Given the description of an element on the screen output the (x, y) to click on. 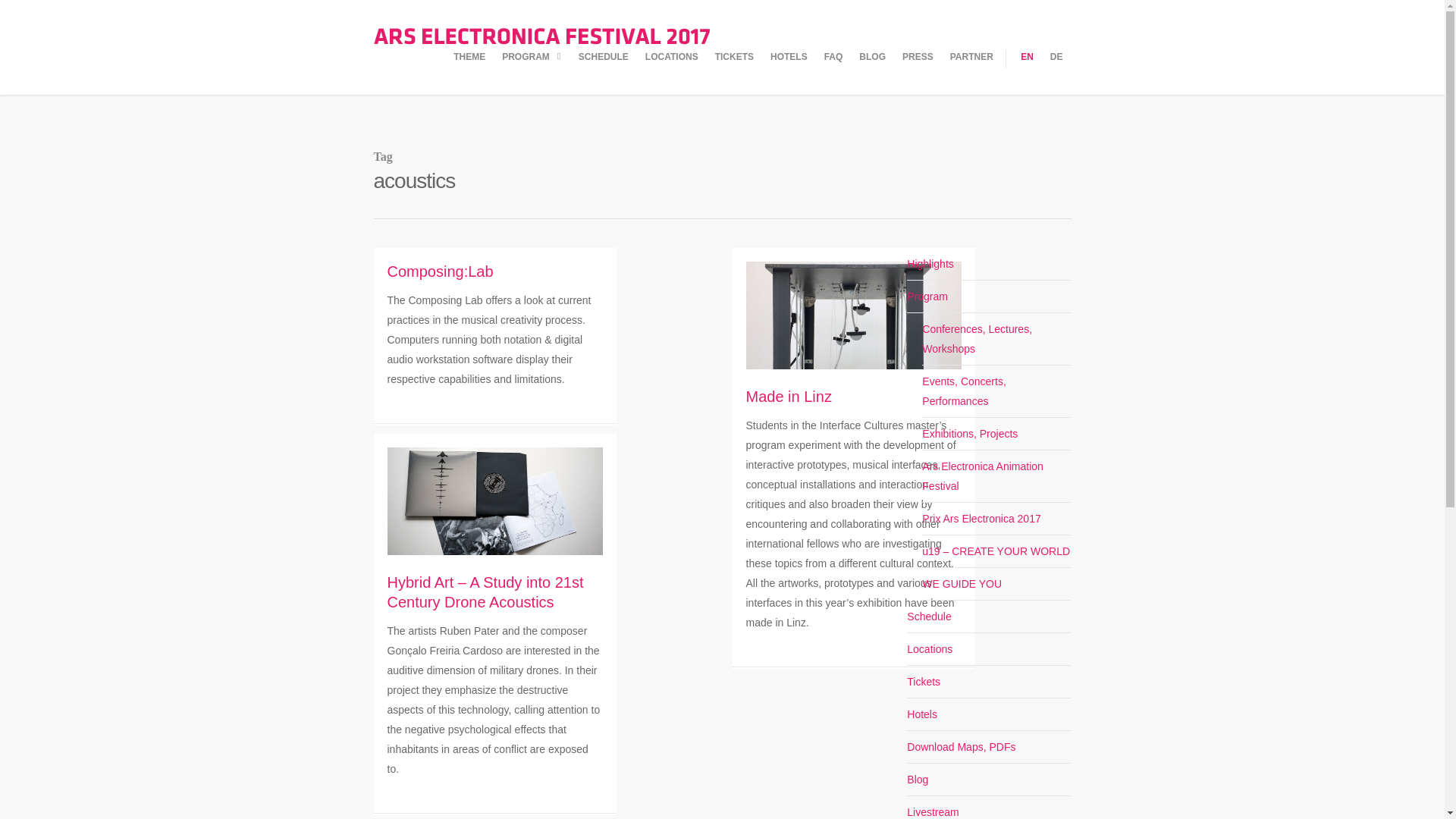
LOCATIONS (671, 69)
PRESS (917, 69)
BLOG (872, 69)
HOTELS (788, 69)
THEME (469, 69)
PROGRAM (532, 72)
PARTNER (971, 69)
SCHEDULE (603, 69)
TICKETS (734, 69)
